Given the description of an element on the screen output the (x, y) to click on. 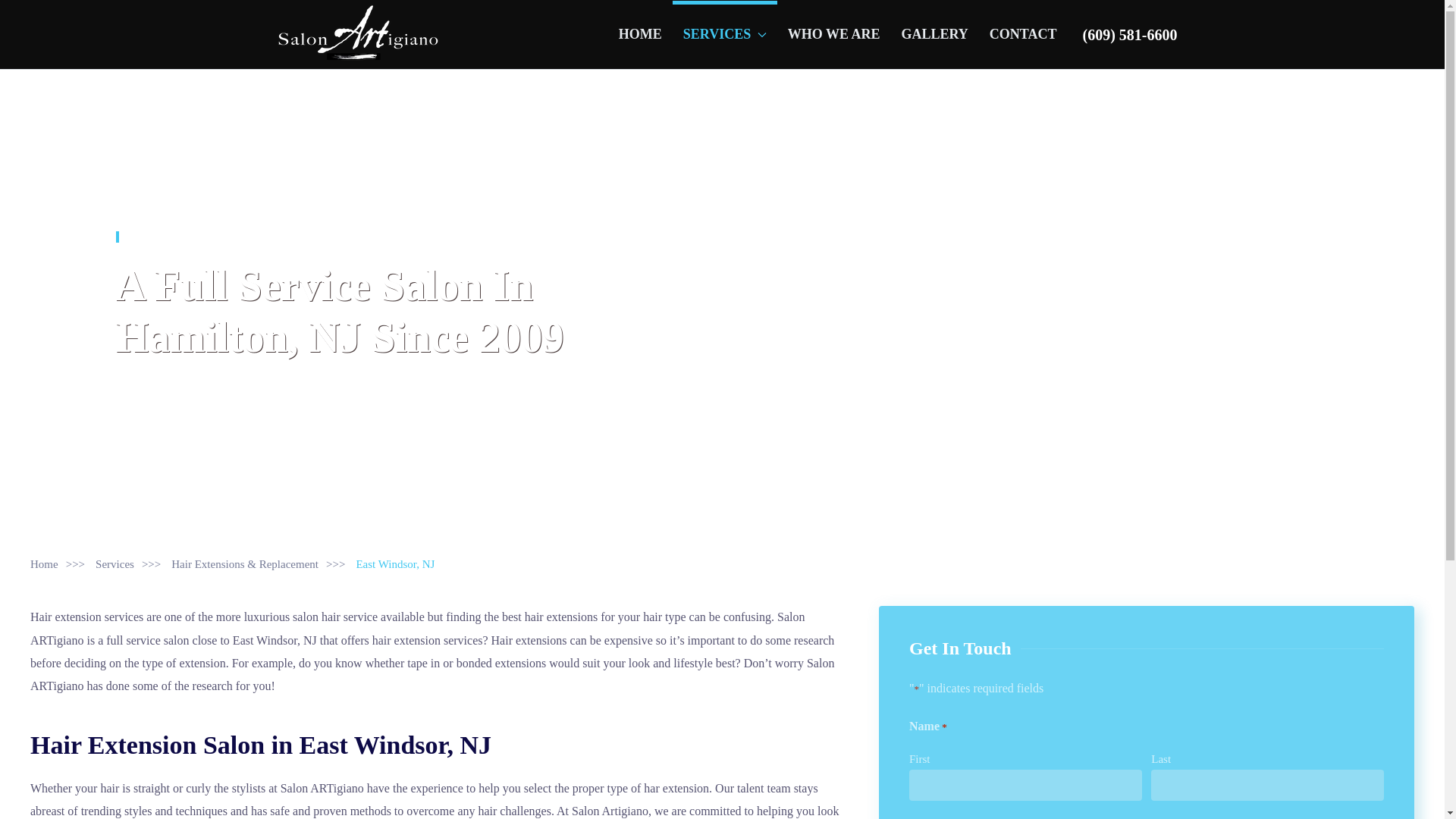
SERVICES (724, 33)
Services (114, 563)
HOME (640, 33)
Home (44, 563)
CONTACT (1022, 33)
WHO WE ARE (834, 33)
A Full Service Salon In Hamilton, NJ Since 2009 (339, 311)
East Windsor, NJ (173, 236)
GALLERY (933, 33)
